Given the description of an element on the screen output the (x, y) to click on. 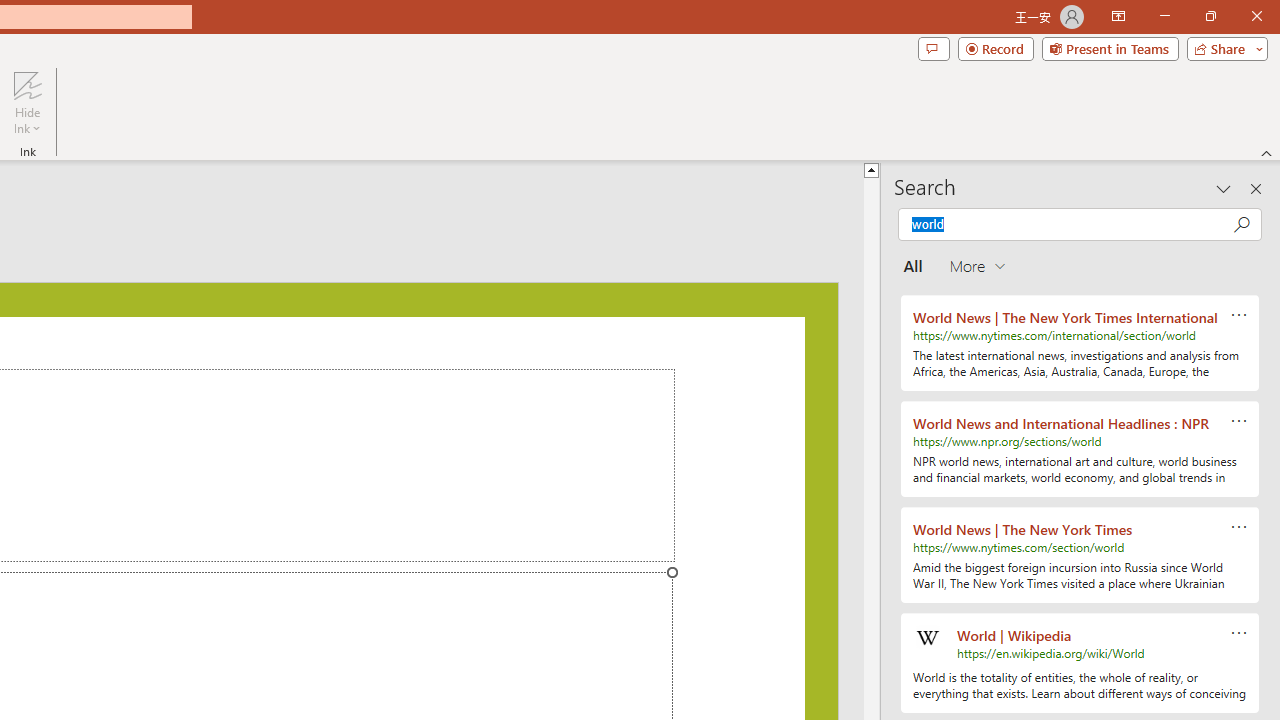
Hide Ink (27, 102)
Hide Ink (27, 84)
